Given the description of an element on the screen output the (x, y) to click on. 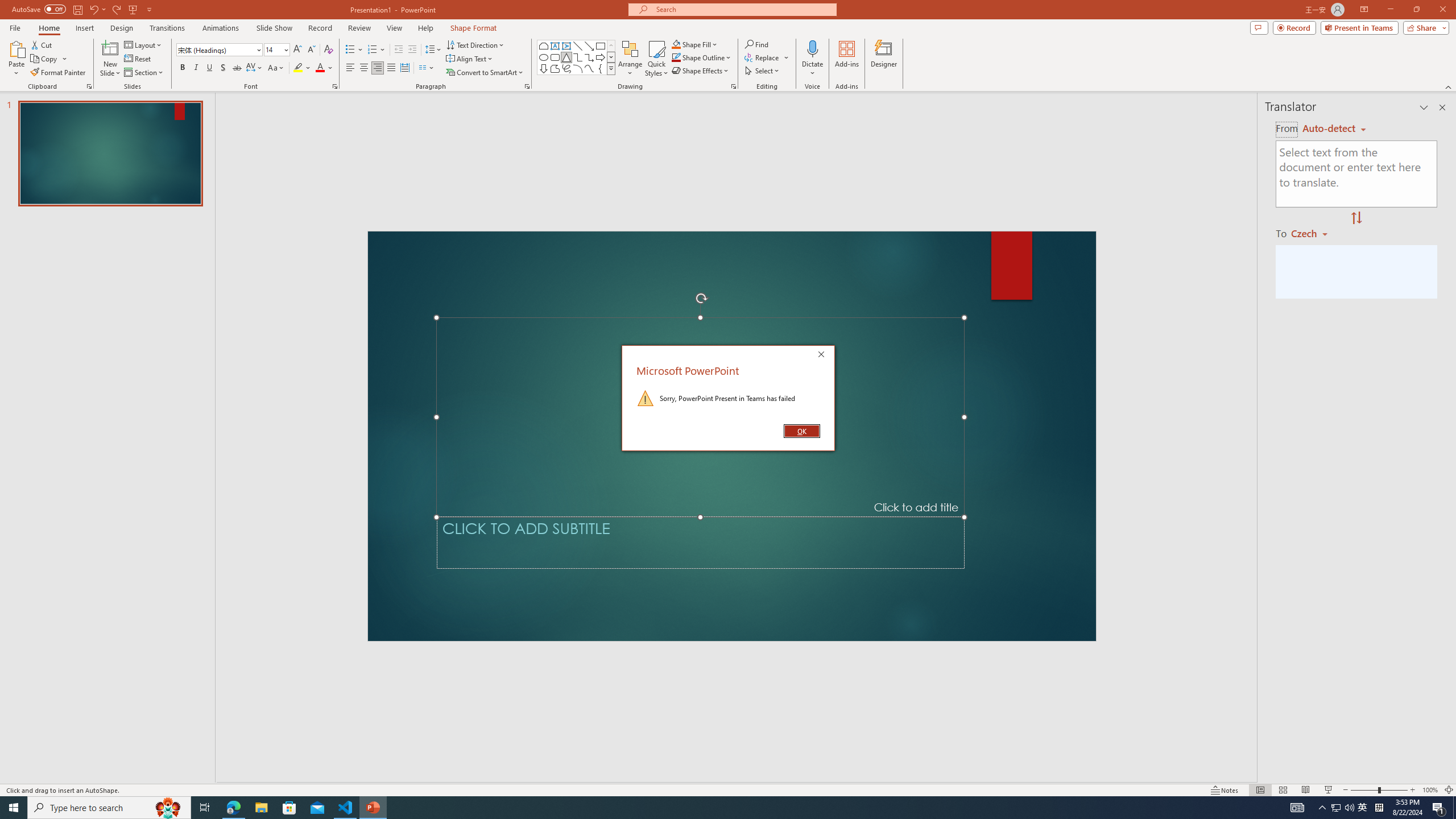
Czech (1313, 232)
Warning Icon (645, 398)
